Given the description of an element on the screen output the (x, y) to click on. 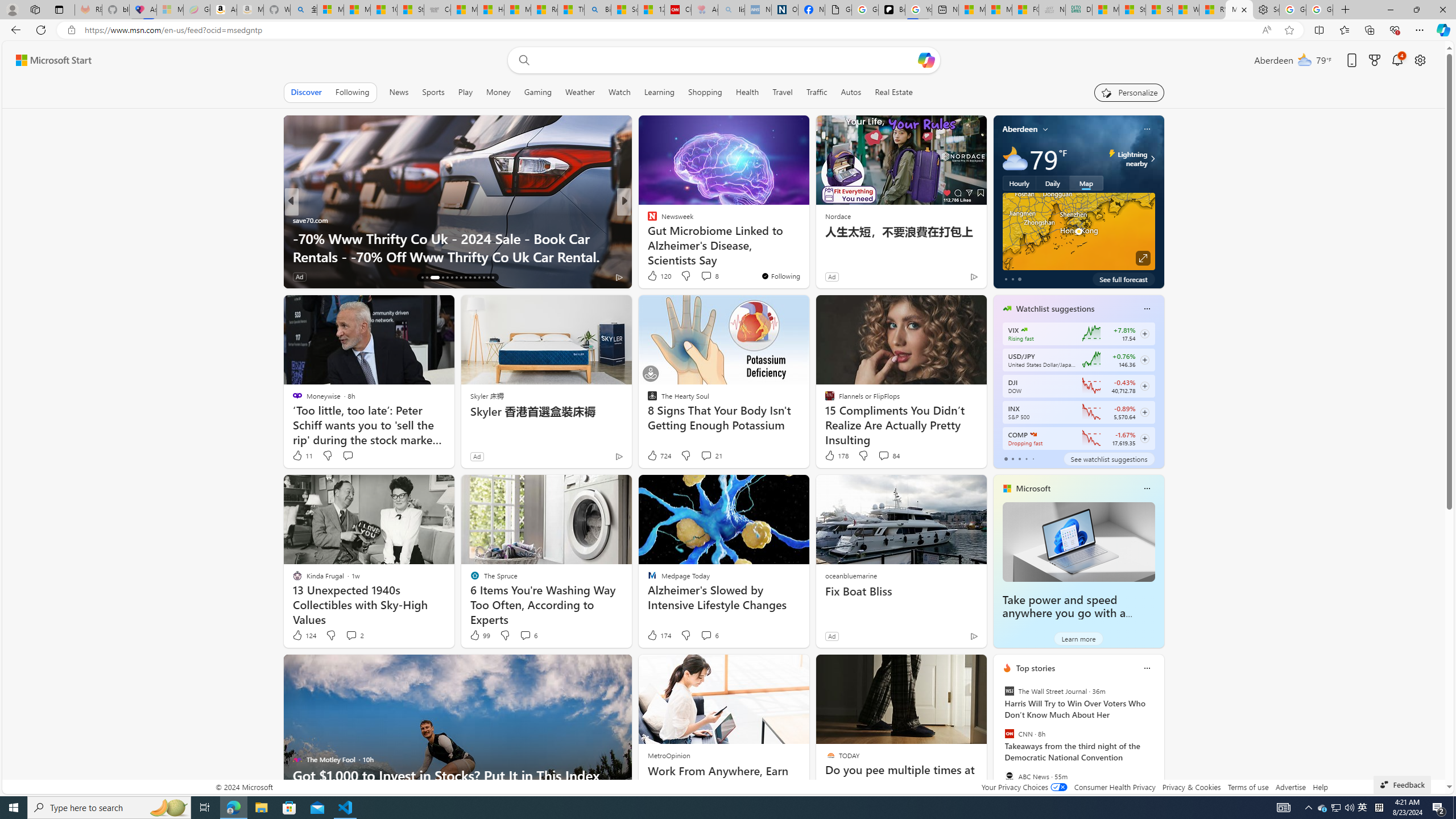
Privacy & Cookies (1191, 786)
Mostly cloudy (1014, 158)
325 Like (654, 276)
799 Like (654, 276)
Larger map  (1077, 231)
View comments 74 Comment (703, 276)
99 Like (479, 634)
12 Popular Science Lies that Must be Corrected (651, 9)
View comments 21 Comment (710, 455)
